Given the description of an element on the screen output the (x, y) to click on. 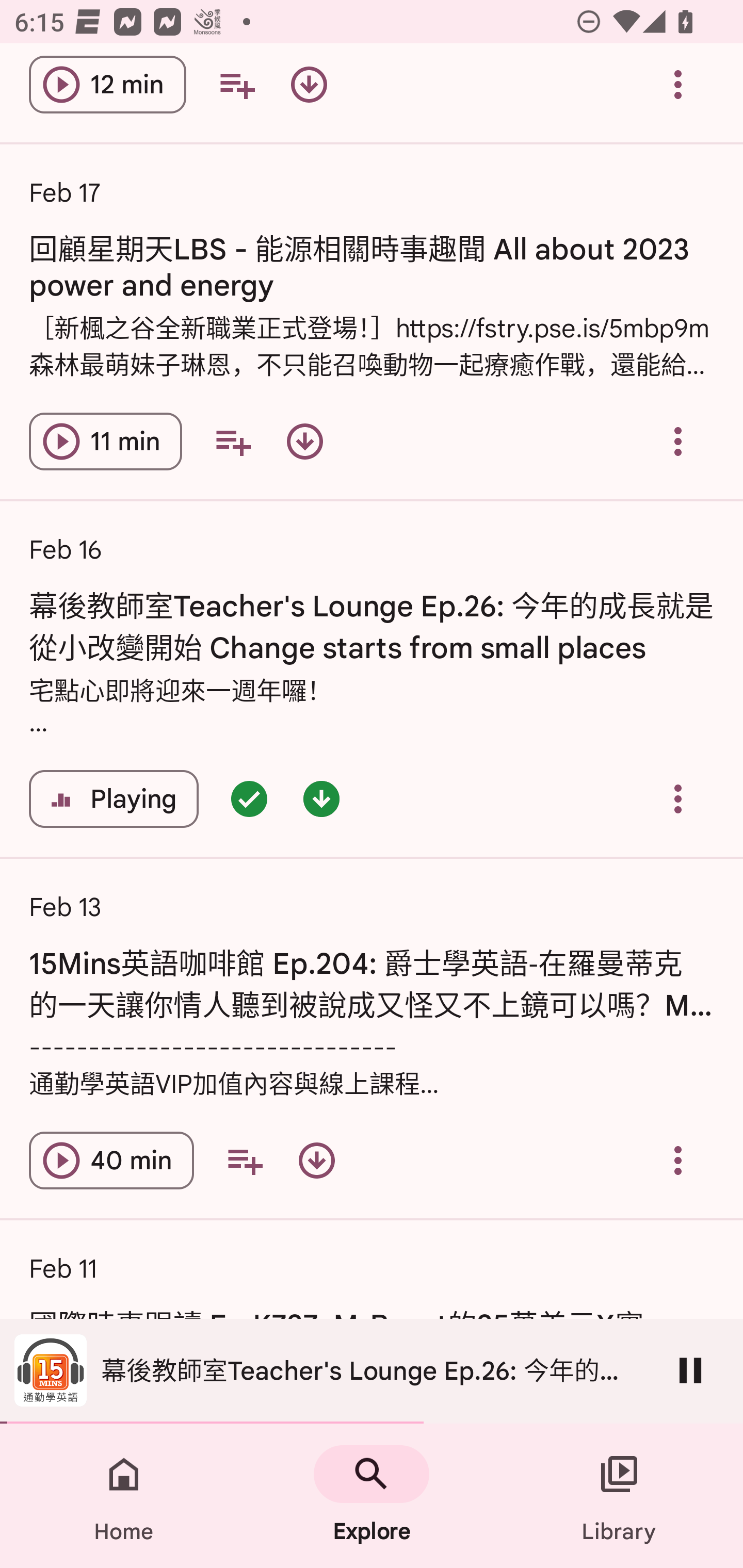
Add to your queue (236, 85)
Download episode (308, 85)
Overflow menu (677, 85)
Add to your queue (232, 441)
Download episode (304, 441)
Overflow menu (677, 441)
Episode queued - double tap for options (249, 798)
Episode downloaded - double tap for options 0.0 (321, 798)
Overflow menu (677, 798)
Add to your queue (244, 1160)
Download episode (316, 1160)
Overflow menu (677, 1160)
Pause (690, 1370)
Home (123, 1495)
Library (619, 1495)
